Given the description of an element on the screen output the (x, y) to click on. 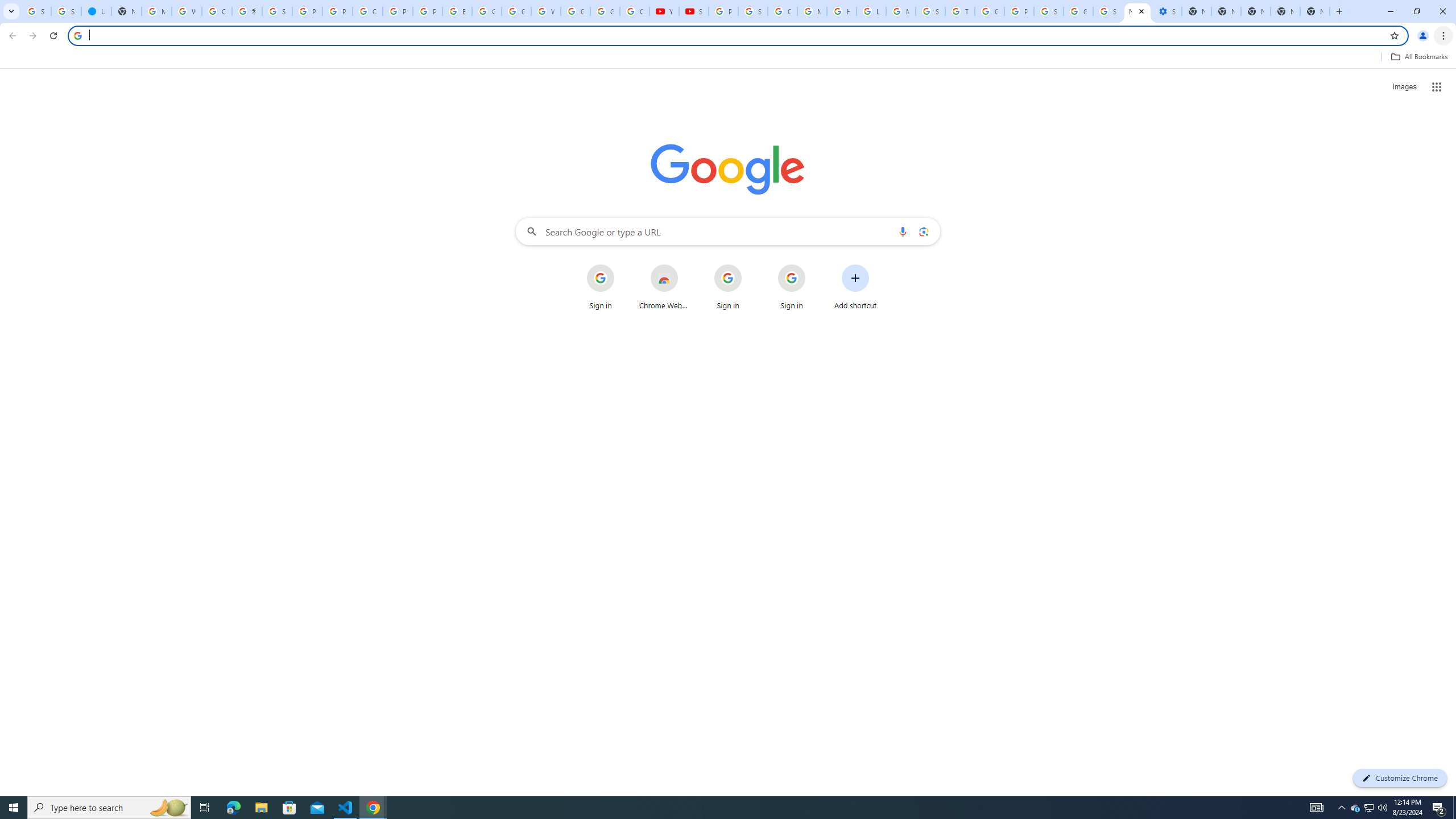
Edit and view right-to-left text - Google Docs Editors Help (456, 11)
Sign in - Google Accounts (1107, 11)
Subscriptions - YouTube (693, 11)
Google Account (604, 11)
